Given the description of an element on the screen output the (x, y) to click on. 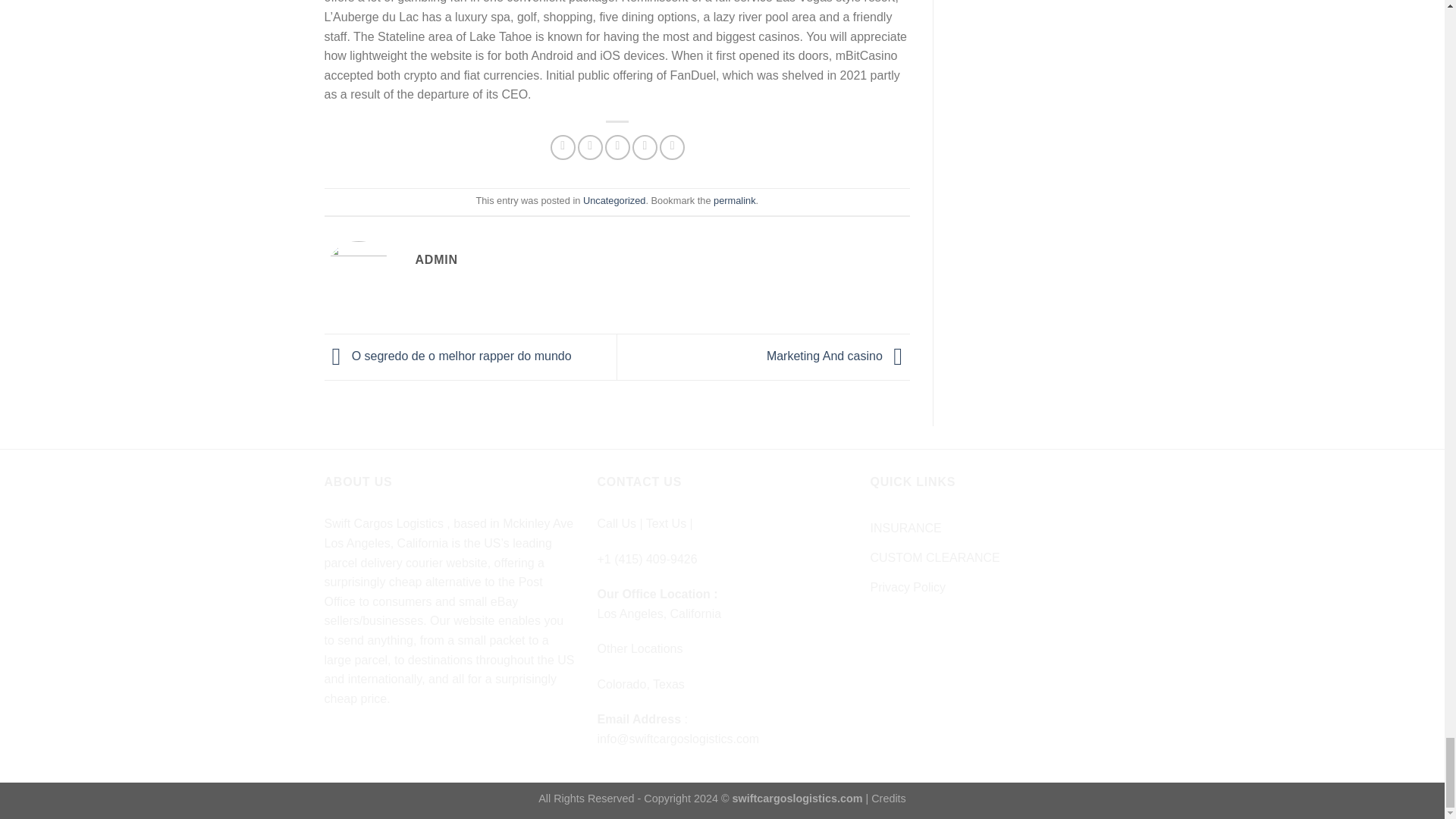
Uncategorized (614, 200)
Marketing And casino (838, 355)
O segredo de o melhor rapper do mundo (448, 355)
permalink (734, 200)
